Given the description of an element on the screen output the (x, y) to click on. 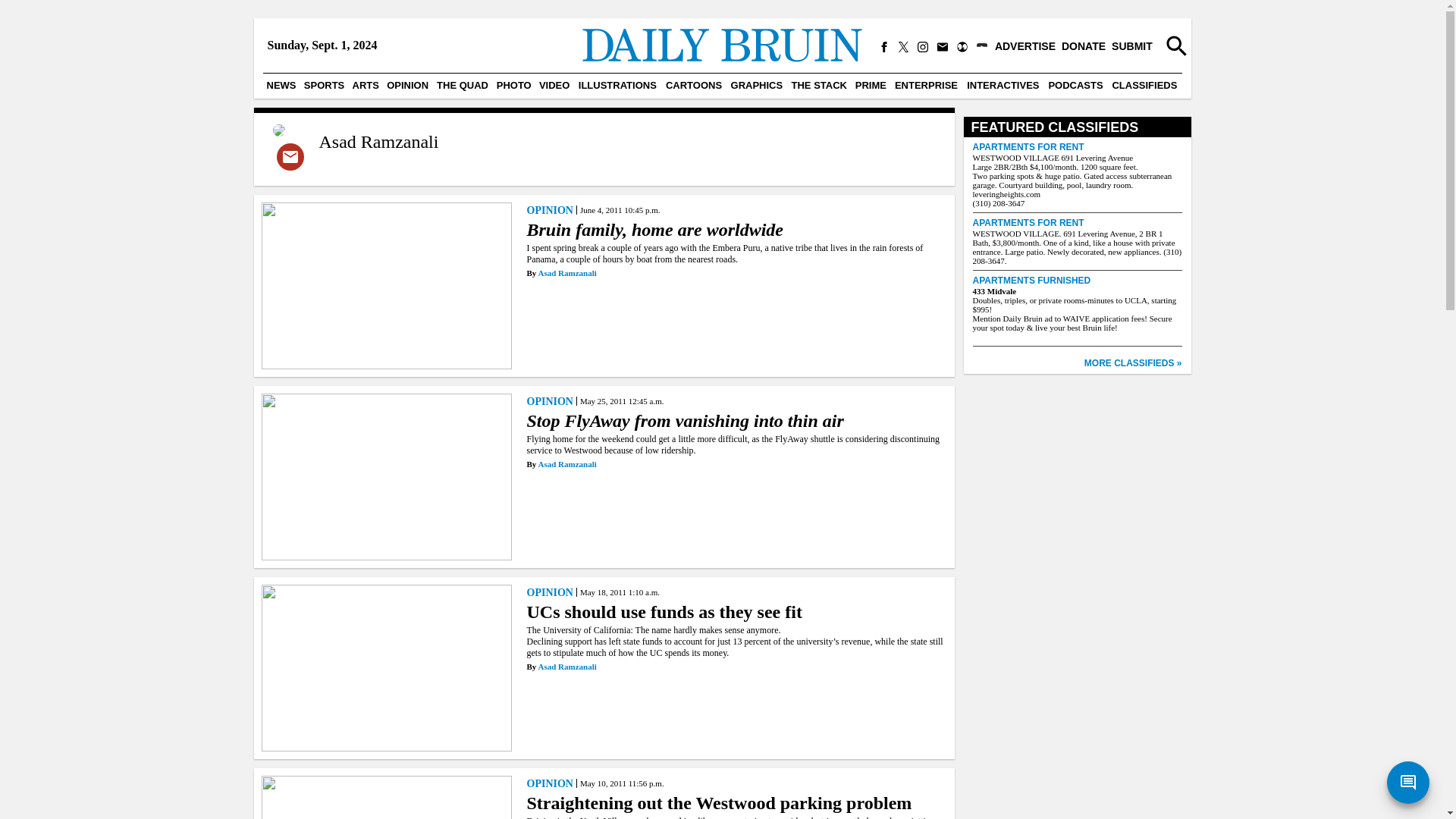
PRIME (870, 85)
THE QUAD (462, 85)
ARTS (365, 85)
Stop FlyAway from vanishing into thin air (735, 428)
THE STACK (819, 85)
NEWS (280, 85)
OPINION (550, 400)
OPINION (550, 209)
GRAPHICS (756, 85)
Asad Ramzanali (566, 463)
